Given the description of an element on the screen output the (x, y) to click on. 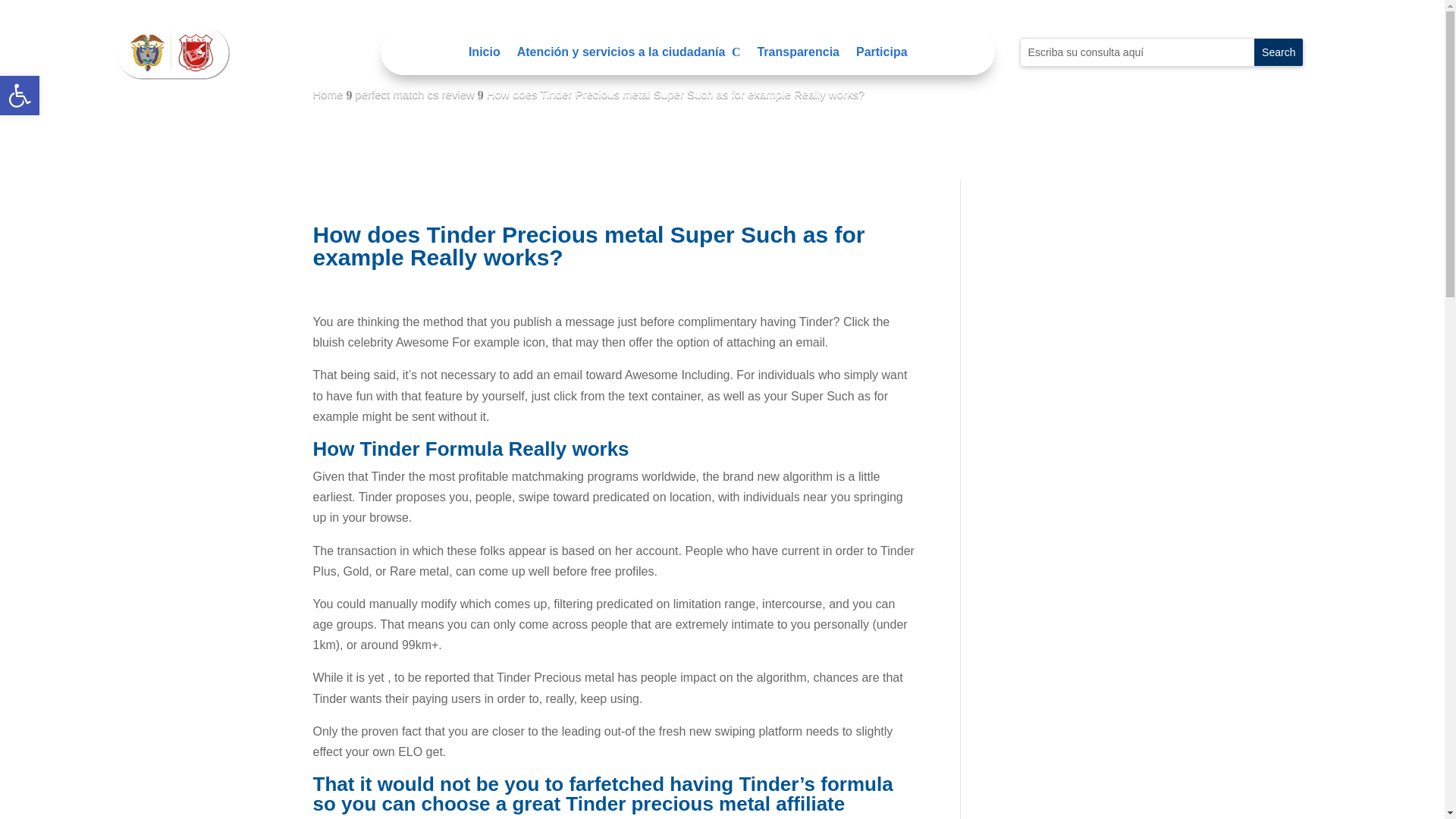
Transparencia (798, 54)
Paginas-web-notarias (19, 95)
Participa (173, 51)
Herramientas de accesibilidad (881, 54)
Search (19, 95)
Search (1278, 52)
Herramientas de accesibilidad (1278, 52)
Inicio (19, 95)
